Given the description of an element on the screen output the (x, y) to click on. 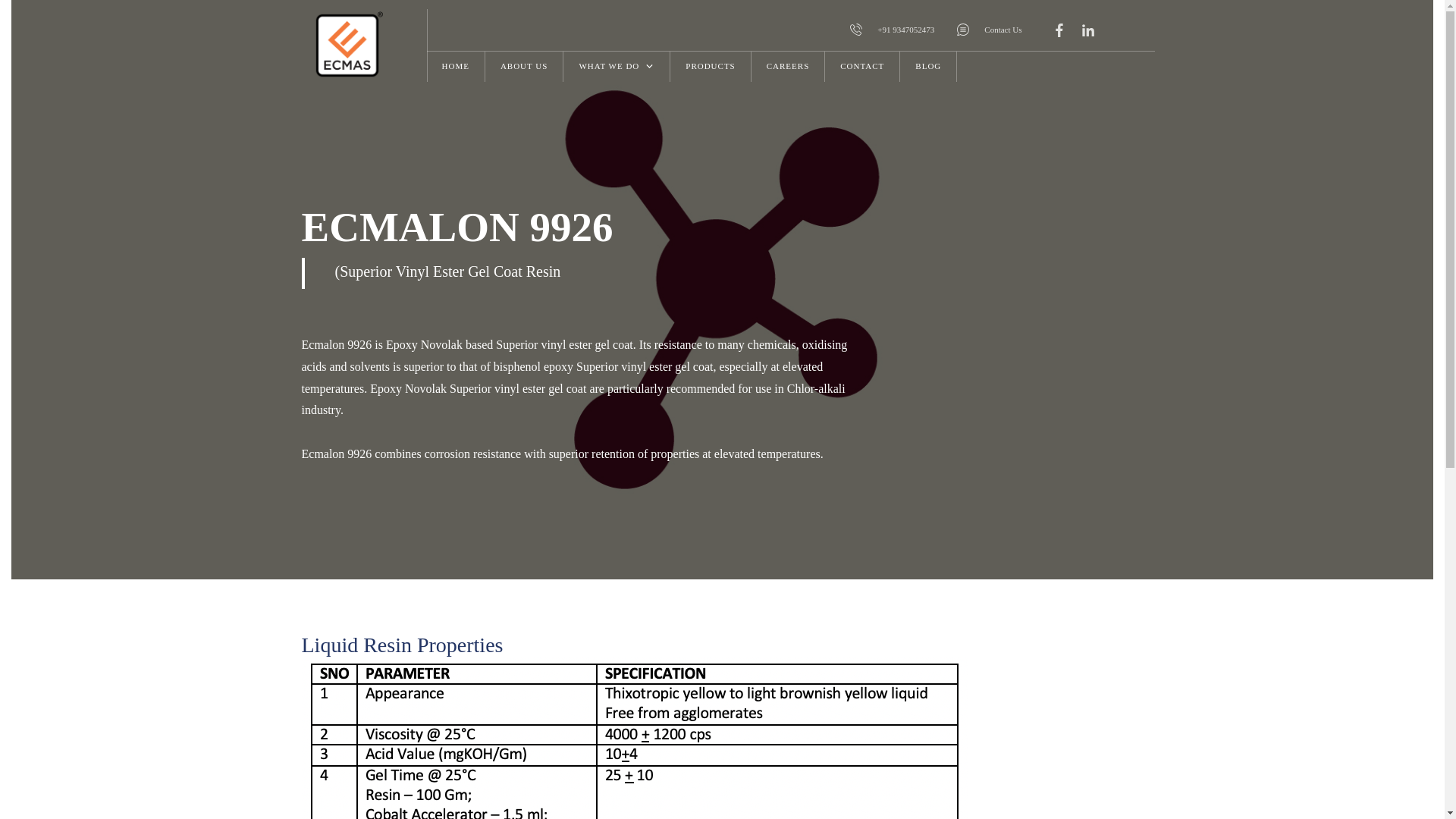
PRODUCTS (710, 66)
BLOG (927, 66)
HOME (455, 66)
CONTACT (862, 66)
WHAT WE DO (616, 66)
Contact Us (989, 29)
CAREERS (788, 66)
ABOUT US (524, 66)
